Given the description of an element on the screen output the (x, y) to click on. 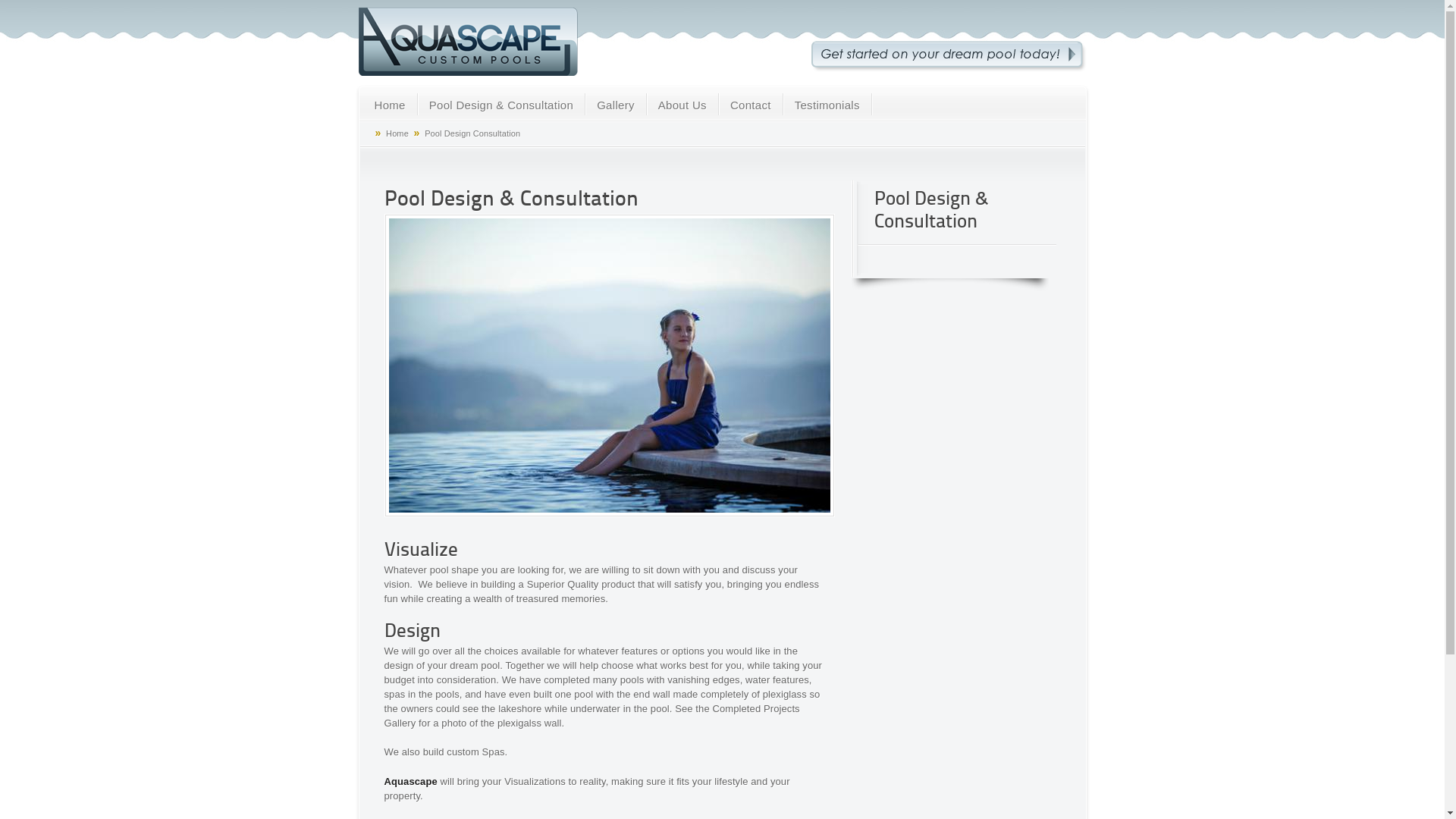
Gallery Element type: text (615, 106)
Pool Design & Consultation Element type: text (500, 106)
Request A Quote Element type: text (948, 56)
Testimonials Element type: text (827, 106)
About Us Element type: text (682, 106)
Home Element type: text (390, 106)
Contact Element type: text (750, 106)
Pool Design Consultation Element type: text (472, 133)
Home Element type: text (397, 133)
